Given the description of an element on the screen output the (x, y) to click on. 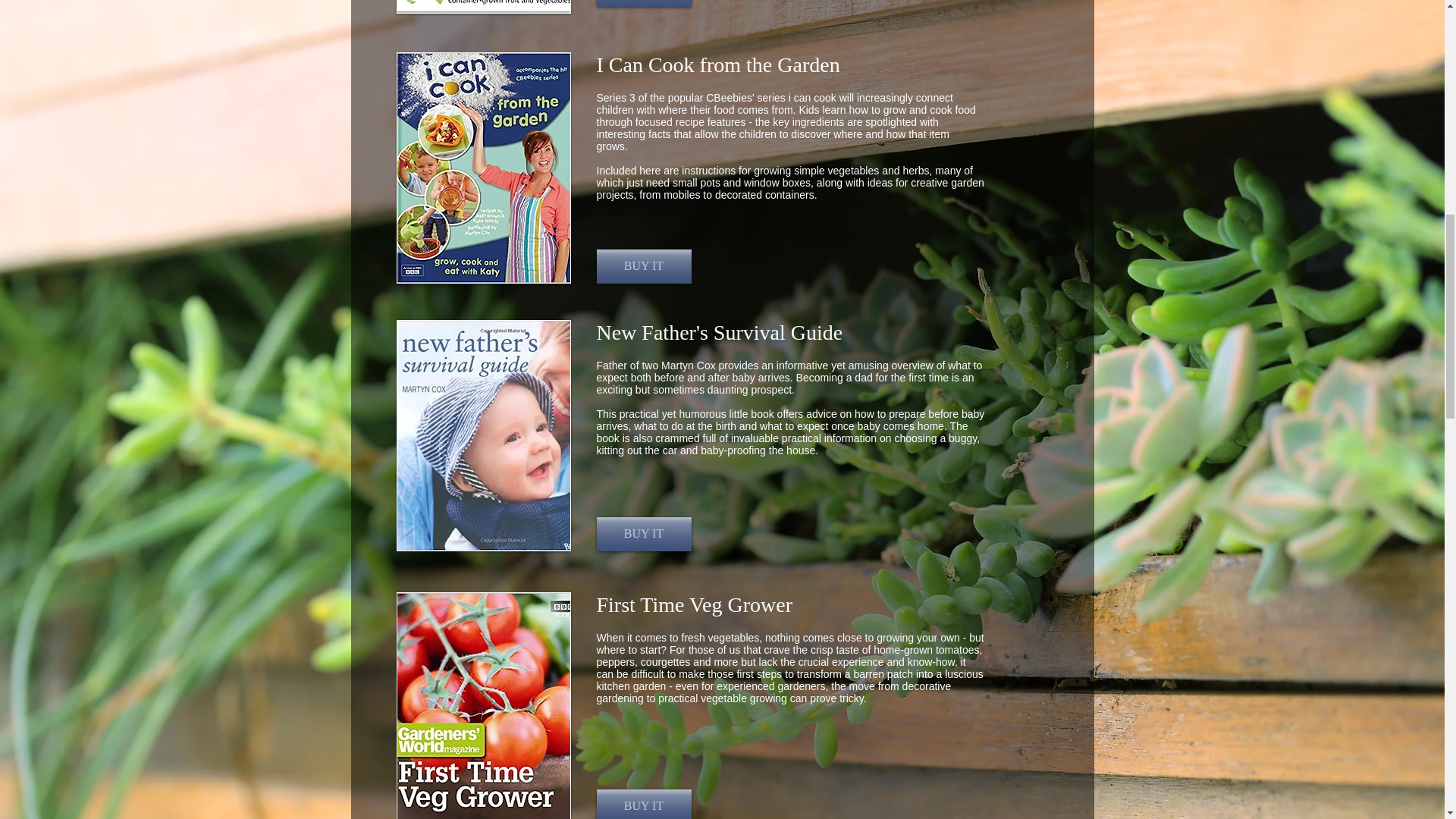
BUY IT (642, 804)
BUY IT (642, 266)
BUY IT (642, 533)
BUY IT (642, 3)
